Given the description of an element on the screen output the (x, y) to click on. 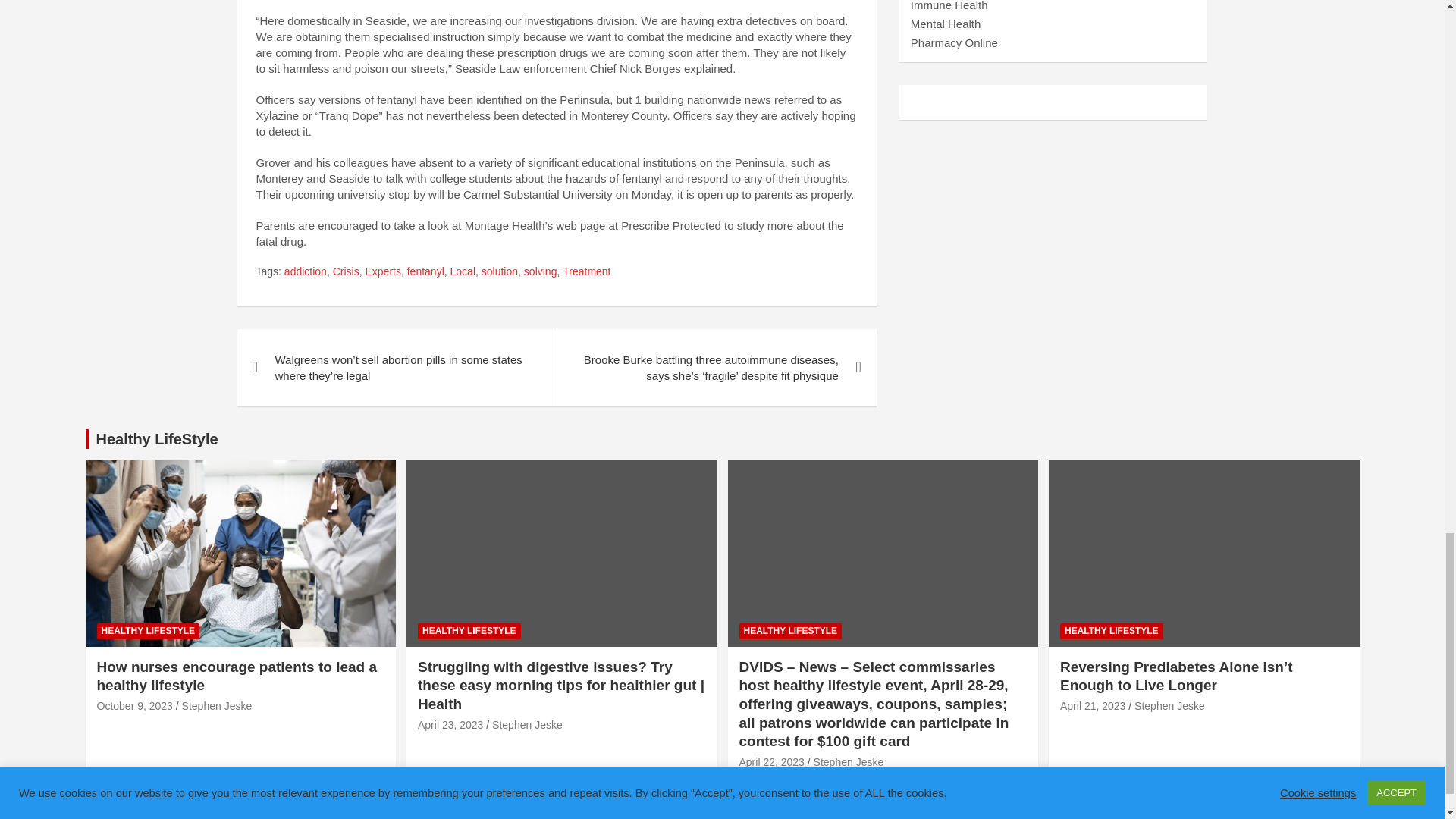
How nurses encourage patients to lead a healthy lifestyle (135, 705)
Experts (382, 272)
Local (462, 272)
solution (499, 272)
solving (540, 272)
fentanyl (425, 272)
Treatment (586, 272)
Crisis (346, 272)
addiction (304, 272)
